Given the description of an element on the screen output the (x, y) to click on. 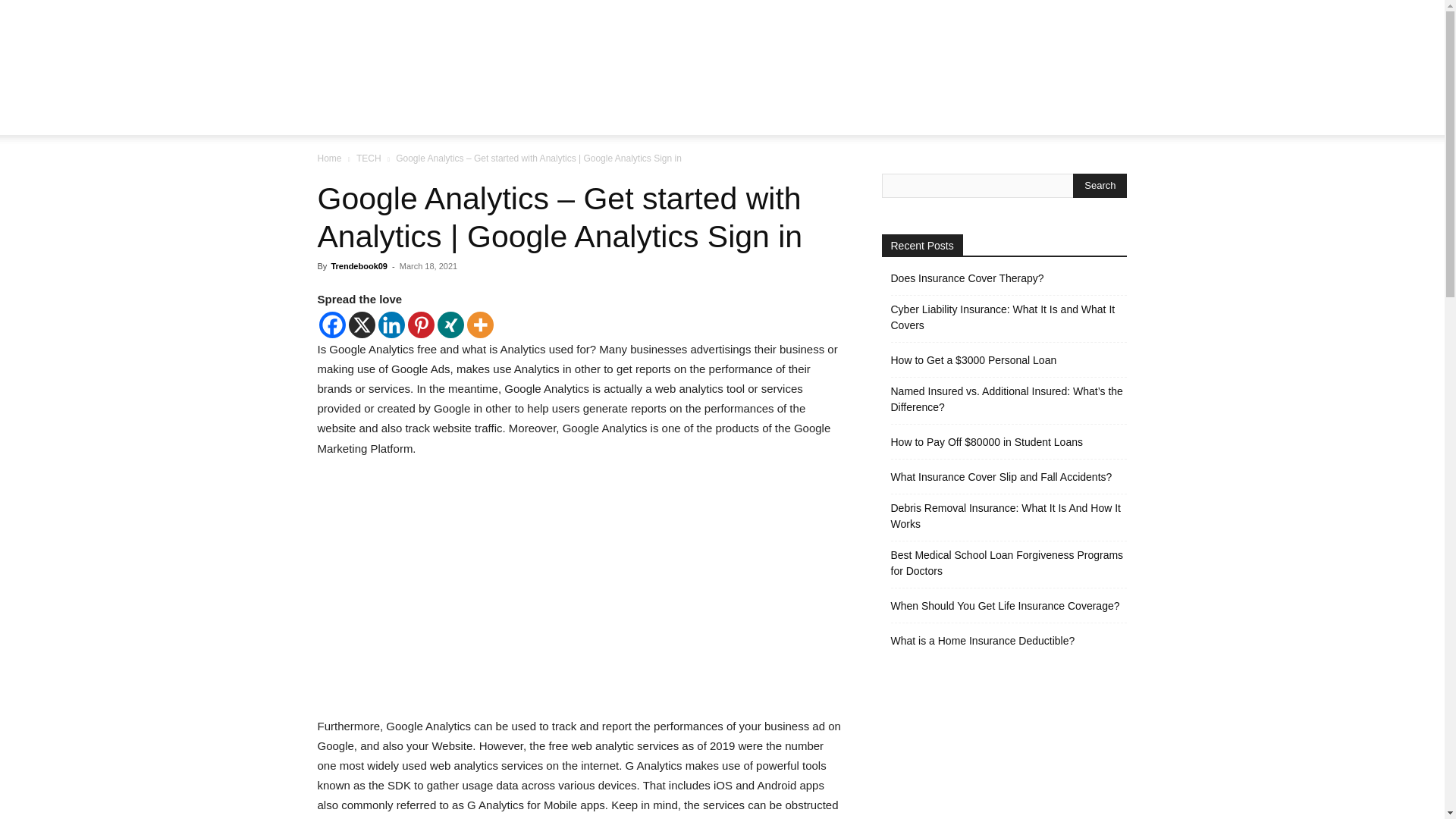
Linkedin (390, 325)
TECH (368, 158)
JOBS (523, 116)
More (480, 325)
Facebook (331, 325)
ABOUT US (959, 116)
Search (1085, 177)
HOW TO (746, 116)
HOME (472, 116)
REVIEW (682, 116)
